Given the description of an element on the screen output the (x, y) to click on. 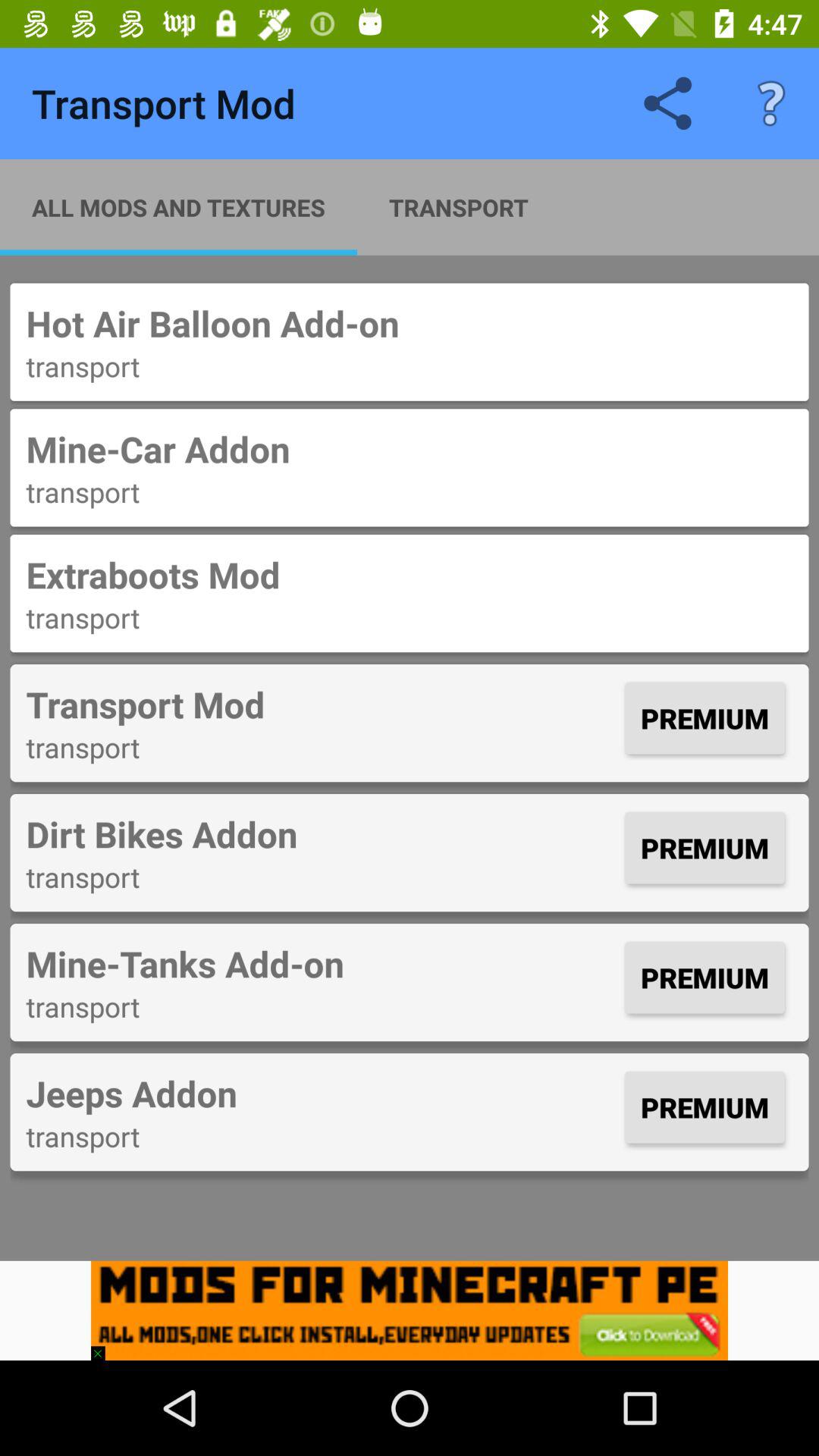
turn on icon to the left of the transport app (178, 207)
